Given the description of an element on the screen output the (x, y) to click on. 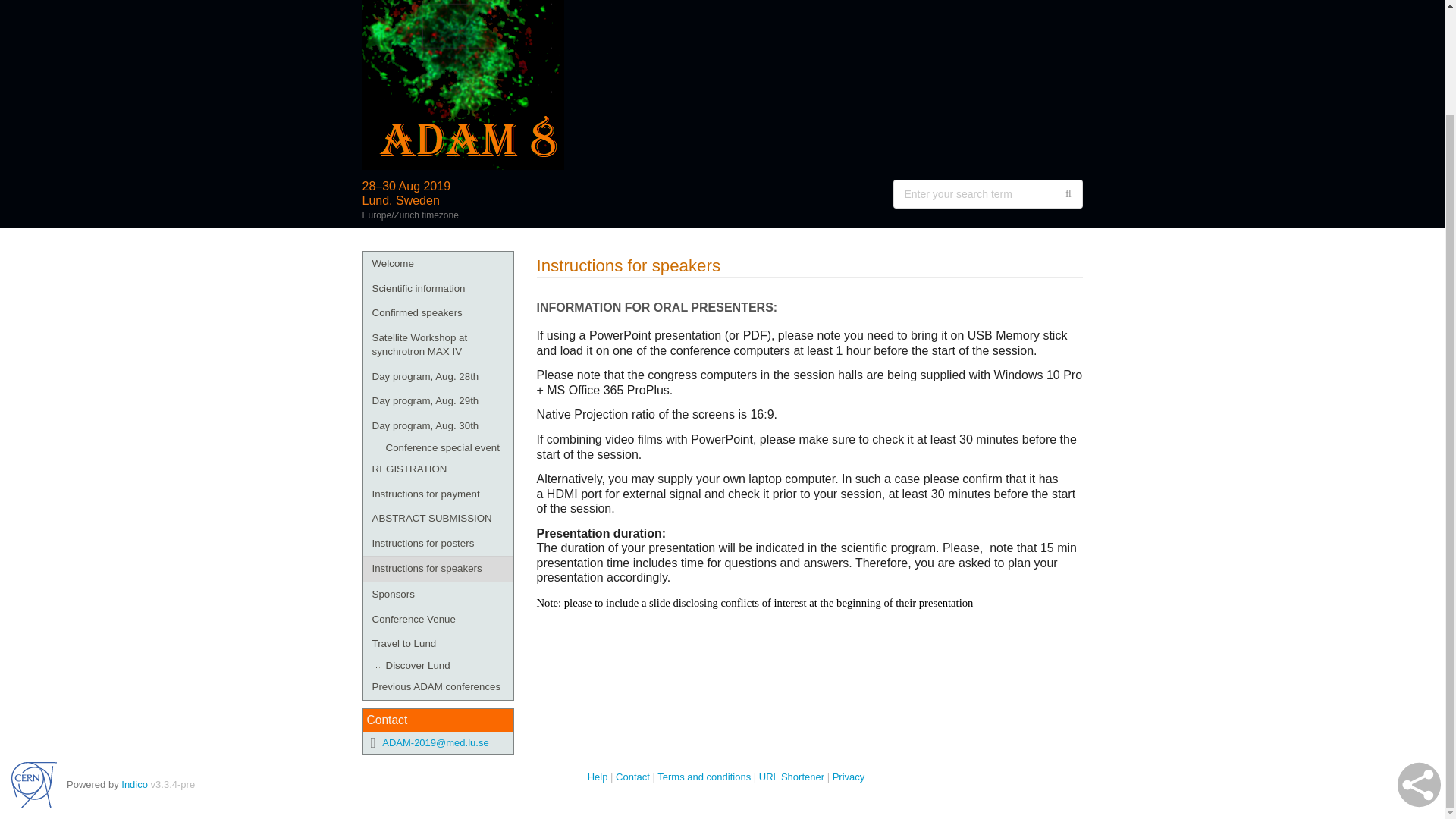
Welcome (437, 263)
Satellite Workshop at synchrotron MAX IV (437, 344)
Confirmed speakers (437, 313)
Day program, Aug. 29th (437, 401)
Day program, Aug. 28th (437, 376)
Scientific information (437, 289)
Day program, Aug. 30th (437, 426)
